Given the description of an element on the screen output the (x, y) to click on. 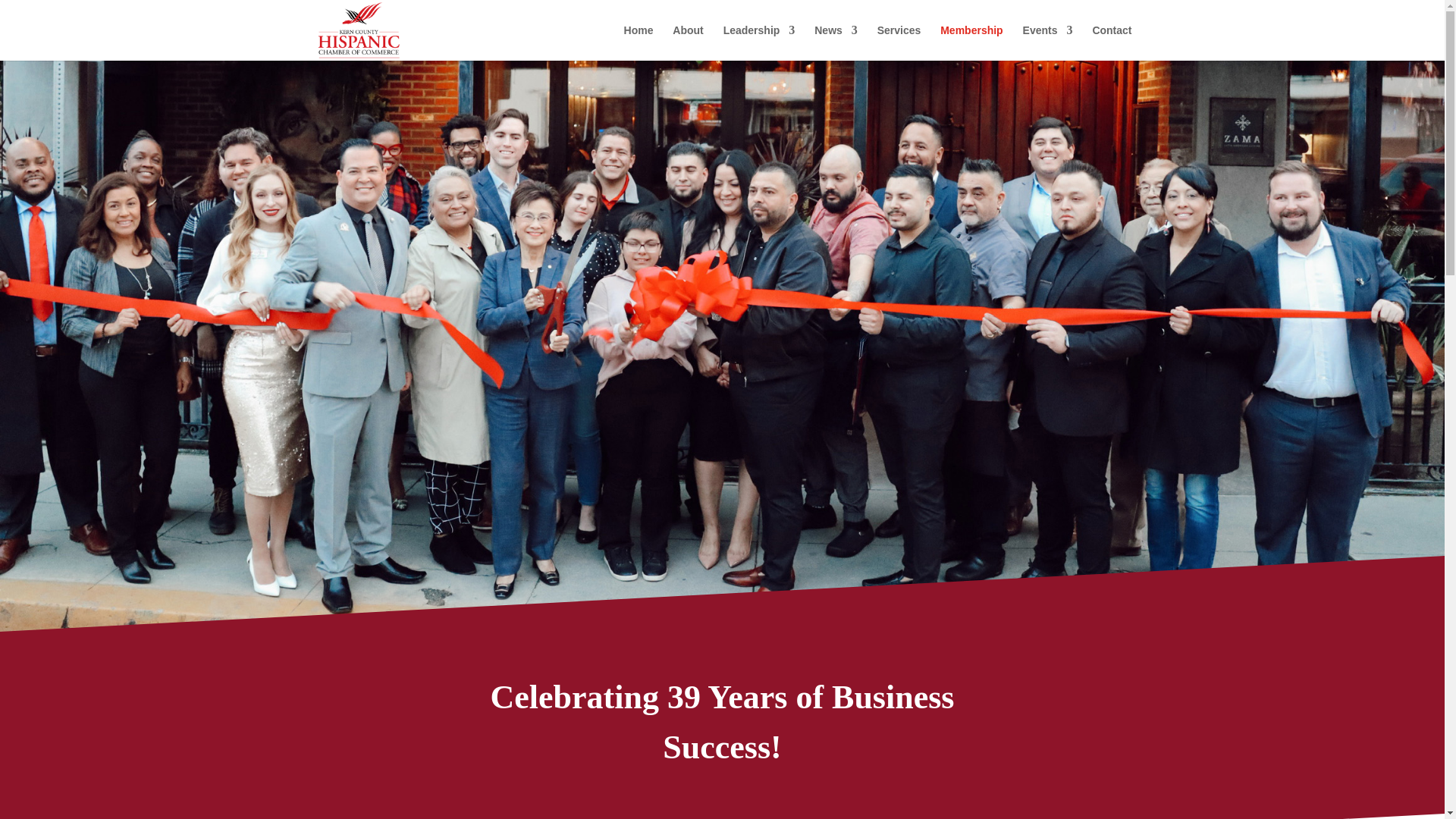
News (835, 42)
Events (1048, 42)
Services (899, 42)
Contact (1111, 42)
Leadership (758, 42)
Membership (971, 42)
